Given the description of an element on the screen output the (x, y) to click on. 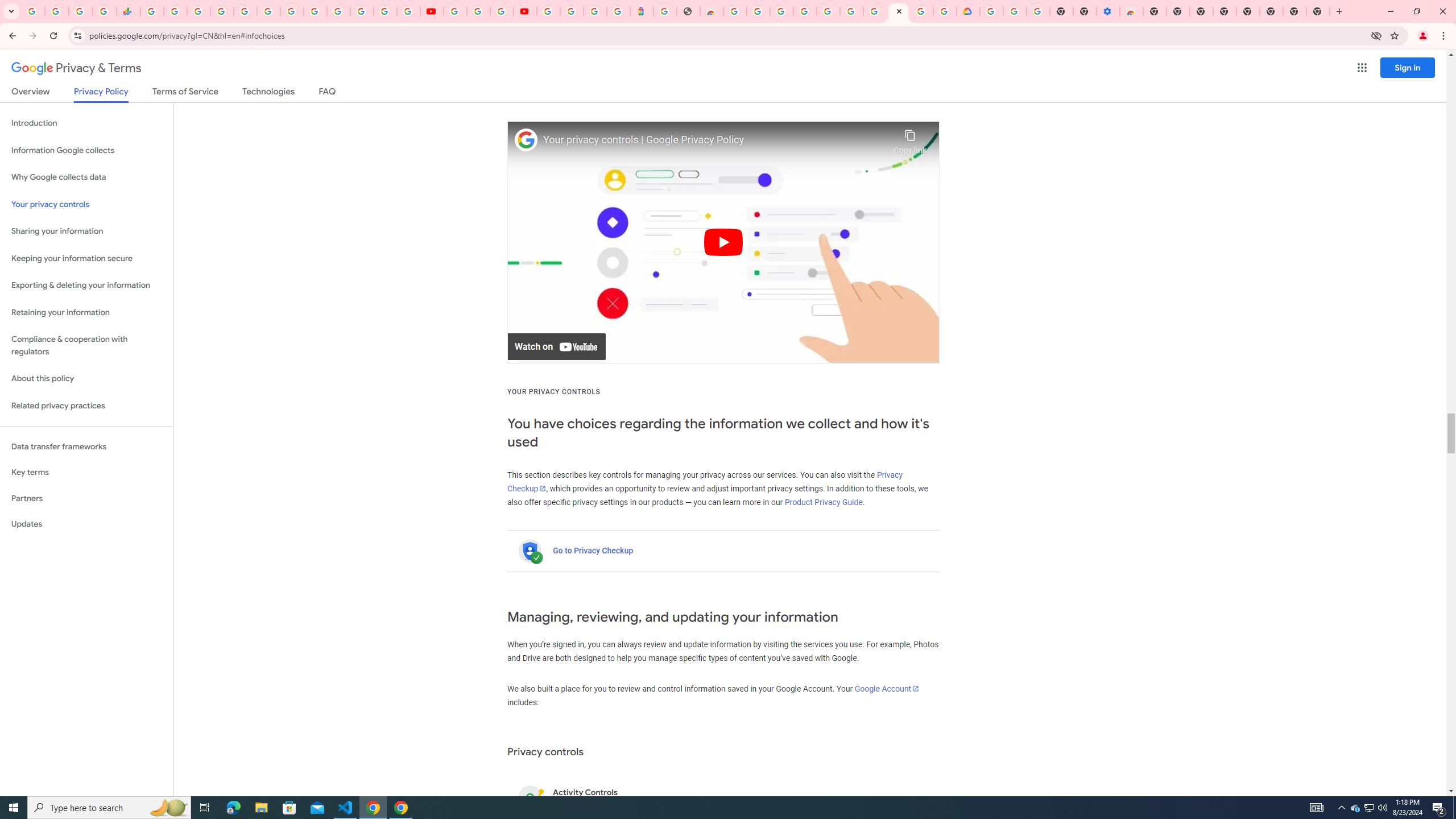
Sign in - Google Accounts (384, 11)
Settings - Accessibility (1108, 11)
